Given the description of an element on the screen output the (x, y) to click on. 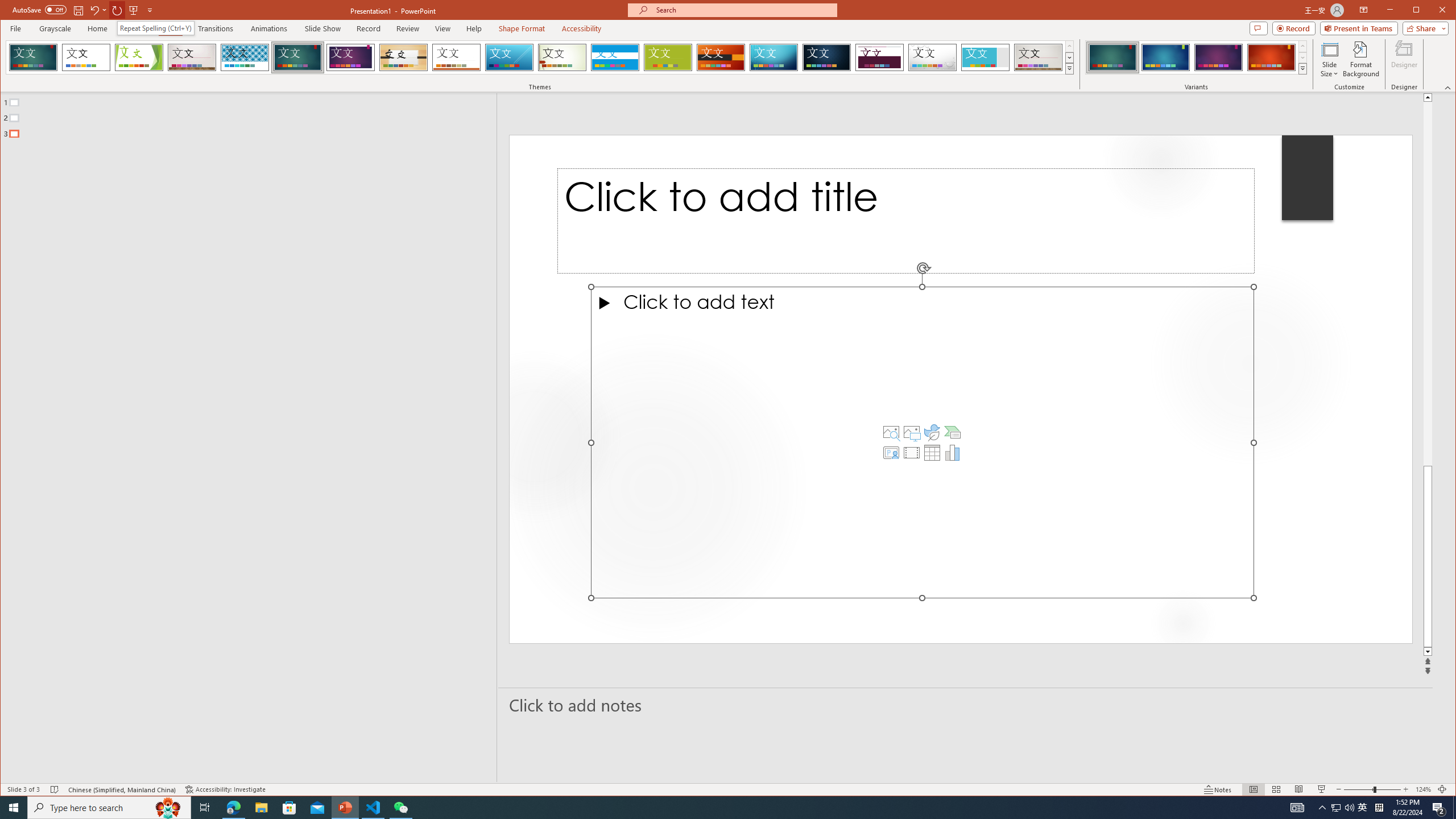
Title TextBox (906, 220)
Insert Cameo (890, 452)
Ion Variant 1 (1112, 57)
Facet (138, 57)
Content Placeholder (922, 442)
